Given the description of an element on the screen output the (x, y) to click on. 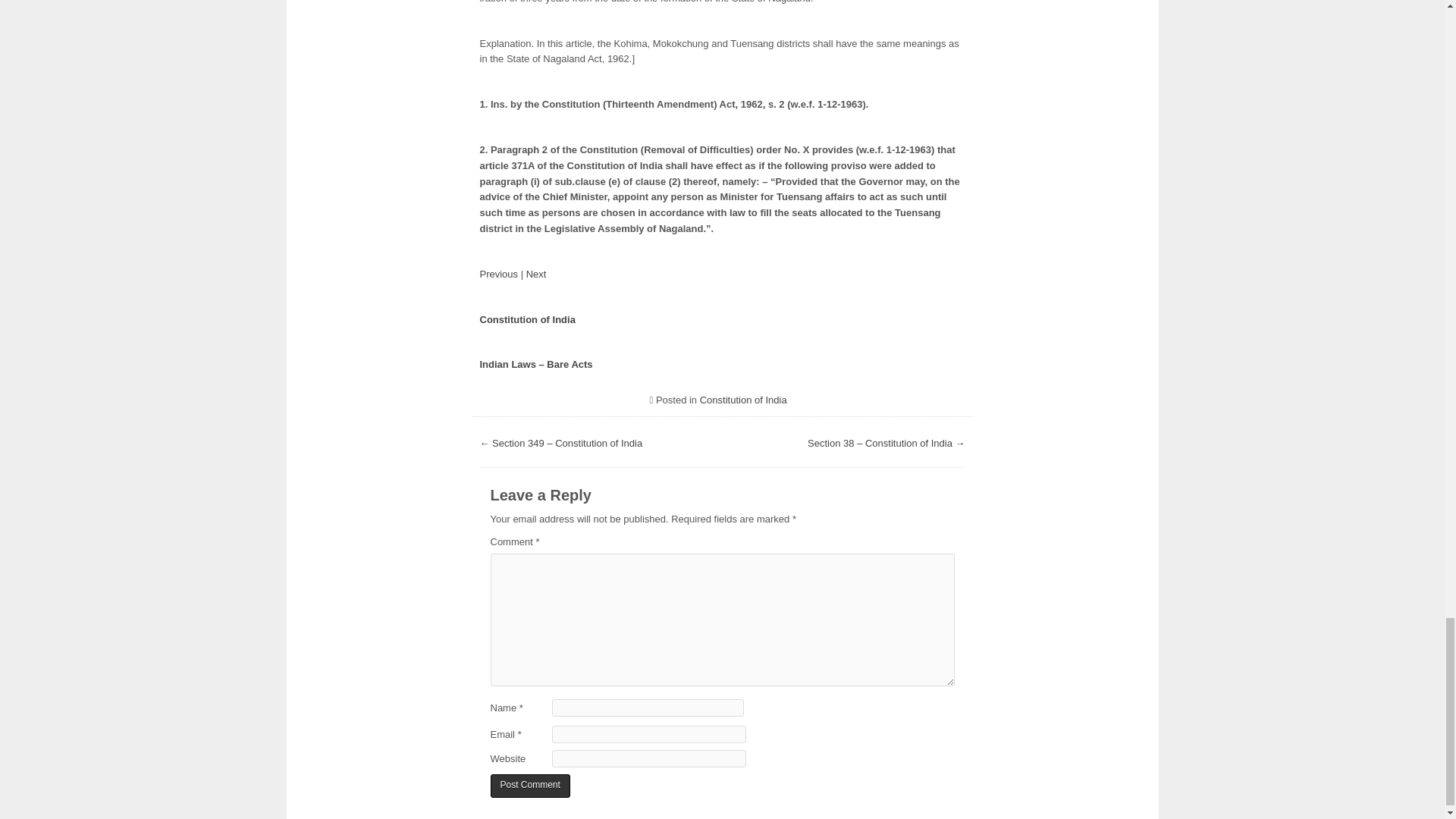
Constitution of India (527, 319)
Next (536, 274)
Constitution of India (743, 399)
Post Comment (529, 785)
Post Comment (529, 785)
Previous (498, 274)
